Given the description of an element on the screen output the (x, y) to click on. 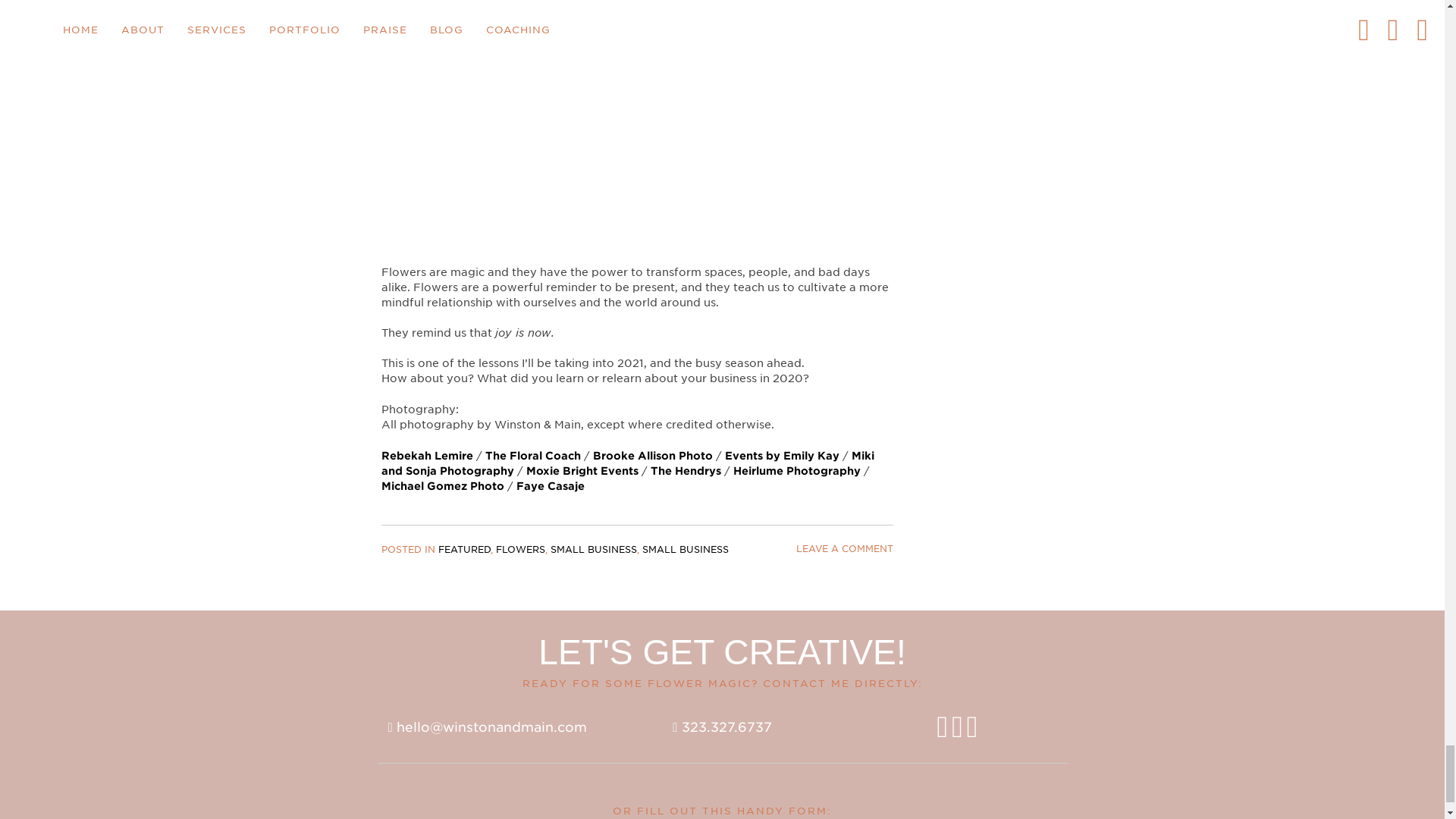
SMALL BUSINESS (685, 549)
The Hendrys (685, 470)
Heirlume Photography (796, 470)
Michael Gomez Photo (441, 485)
Events by Emily Kay (782, 455)
FEATURED (464, 549)
The Floral Coach (532, 455)
FLOWERS (520, 549)
Brooke Allison Photo (652, 455)
Moxie Bright Events (582, 470)
